Given the description of an element on the screen output the (x, y) to click on. 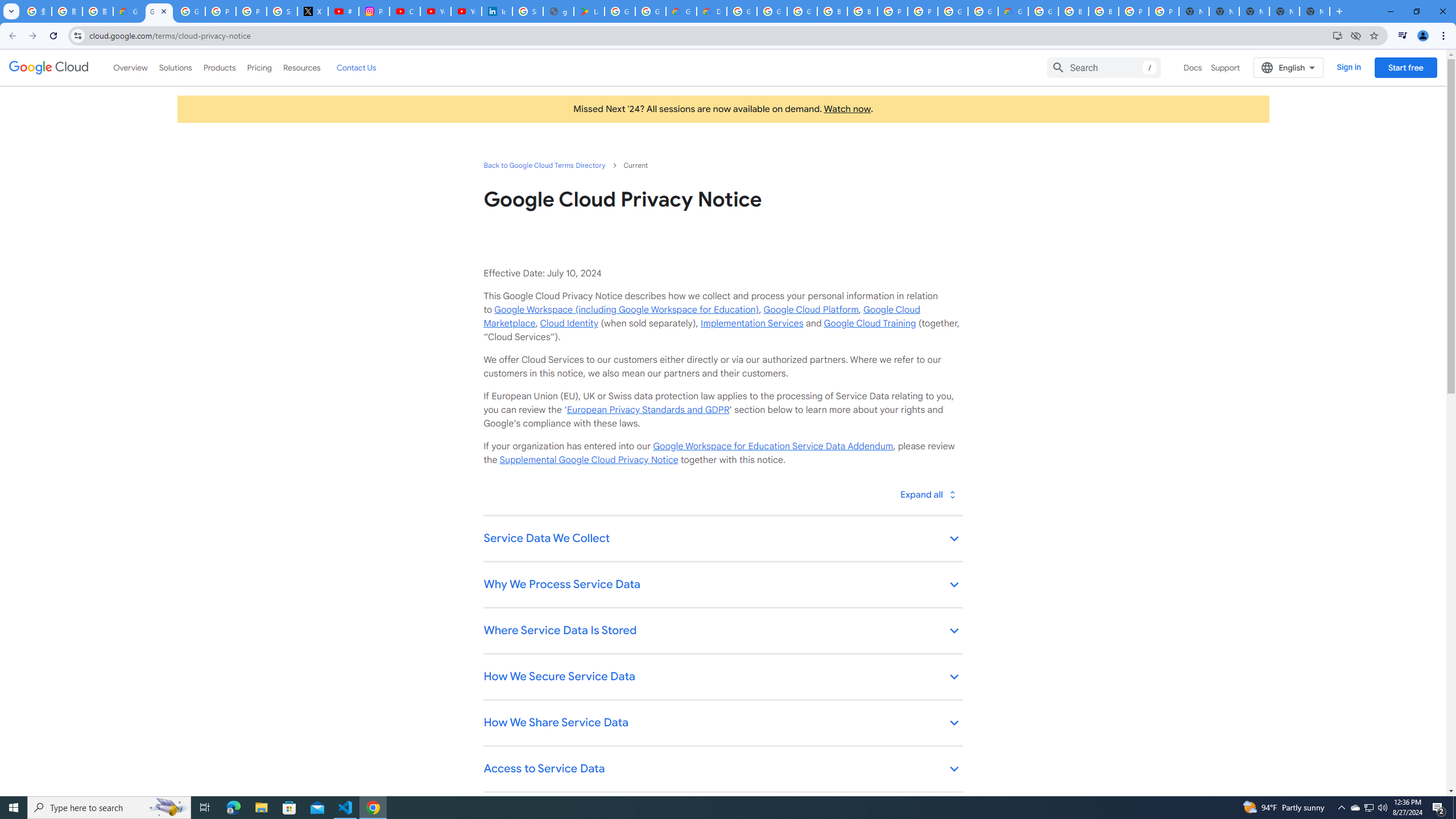
Cloud Identity (569, 323)
YouTube Culture & Trends - YouTube Top 10, 2021 (465, 11)
Supplemental Google Cloud Privacy Notice (588, 460)
#nbabasketballhighlights - YouTube (343, 11)
Google Cloud Platform (810, 309)
Back to Google Cloud Terms Directory (544, 165)
Browse Chrome as a guest - Computer - Google Chrome Help (832, 11)
